Given the description of an element on the screen output the (x, y) to click on. 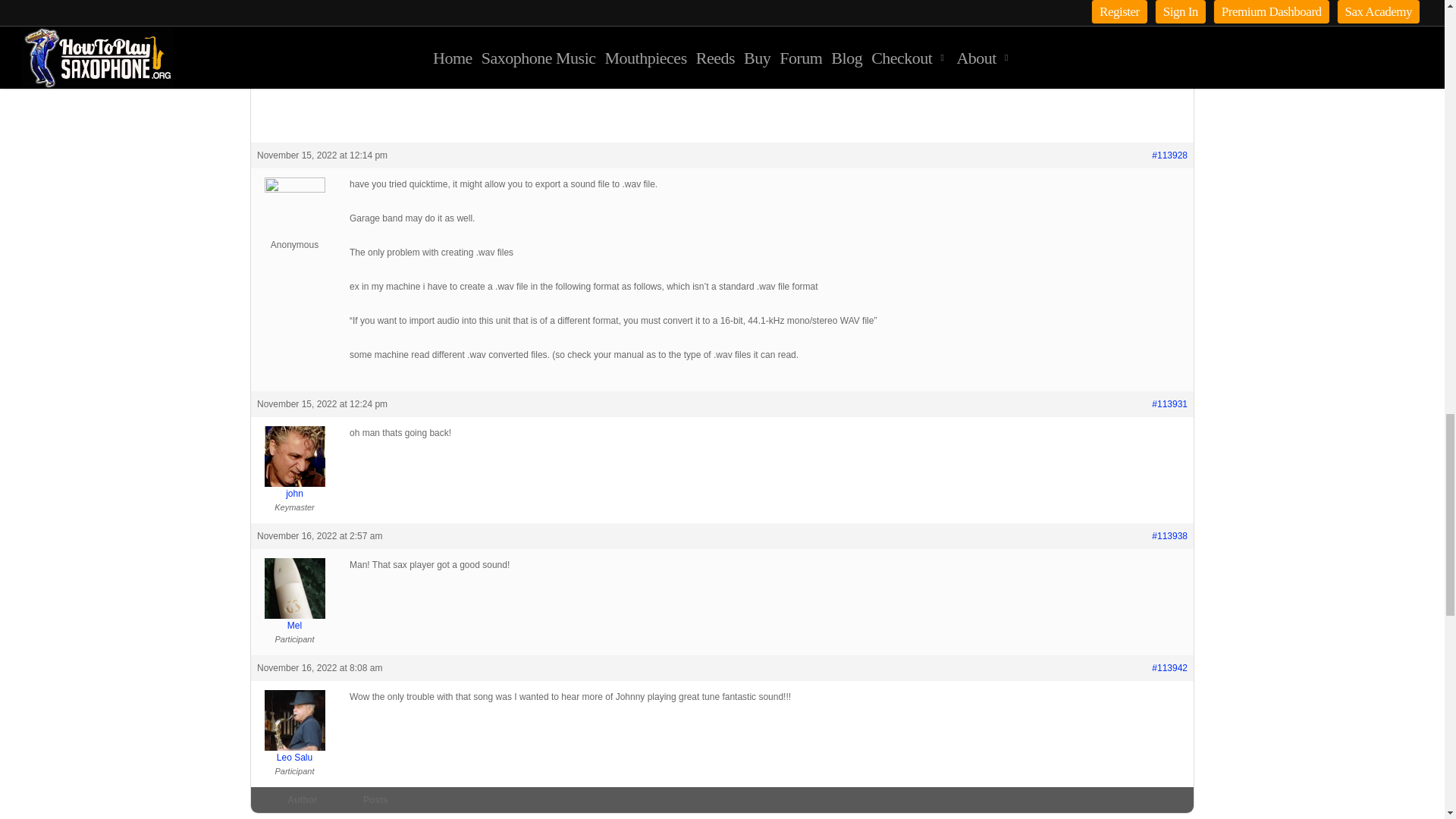
View Leo Salu's profile (293, 727)
View john's profile (293, 462)
View Mel's profile (293, 594)
Colin James - Five Long Years (767, 54)
john (293, 462)
